Given the description of an element on the screen output the (x, y) to click on. 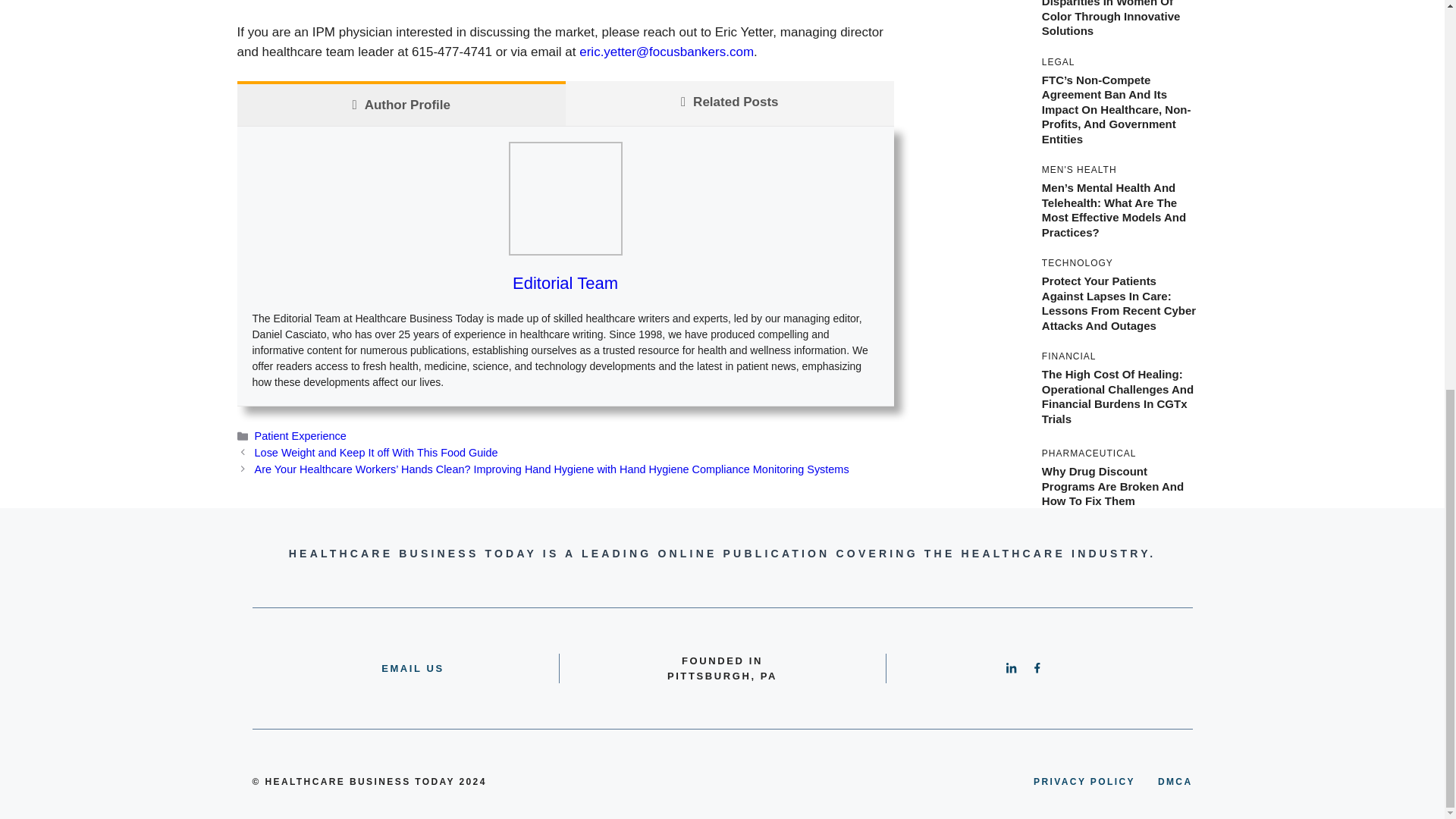
Lose Weight and Keep It off With This Food Guide (375, 452)
Patient Experience (300, 435)
Editorial Team (564, 282)
